Given the description of an element on the screen output the (x, y) to click on. 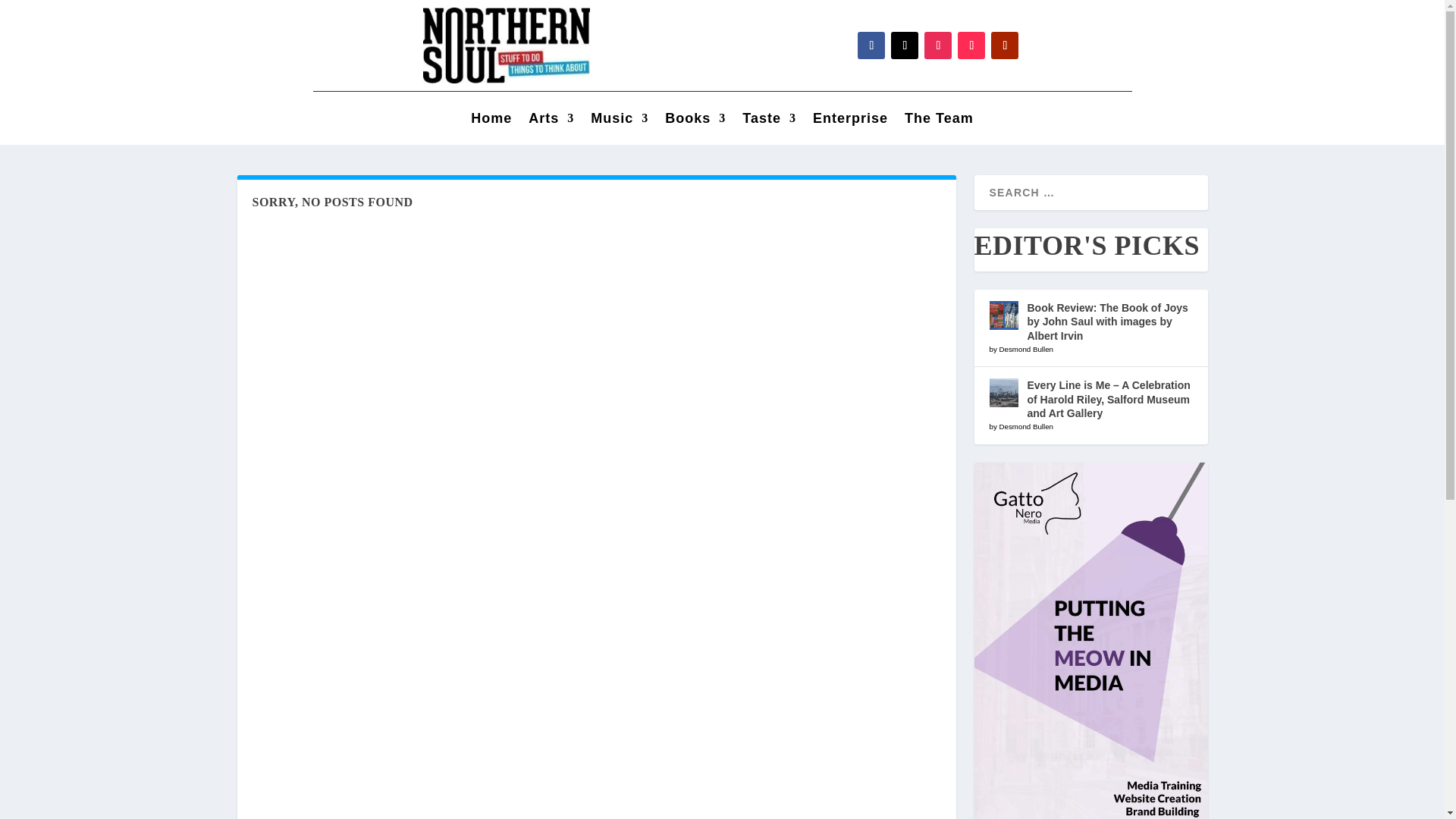
Enterprise (850, 121)
Arts (550, 121)
Music (619, 121)
Print (506, 45)
Home (491, 121)
Follow on Facebook (871, 44)
The Team (939, 121)
Follow on X (904, 44)
Taste (769, 121)
Books (695, 121)
